Given the description of an element on the screen output the (x, y) to click on. 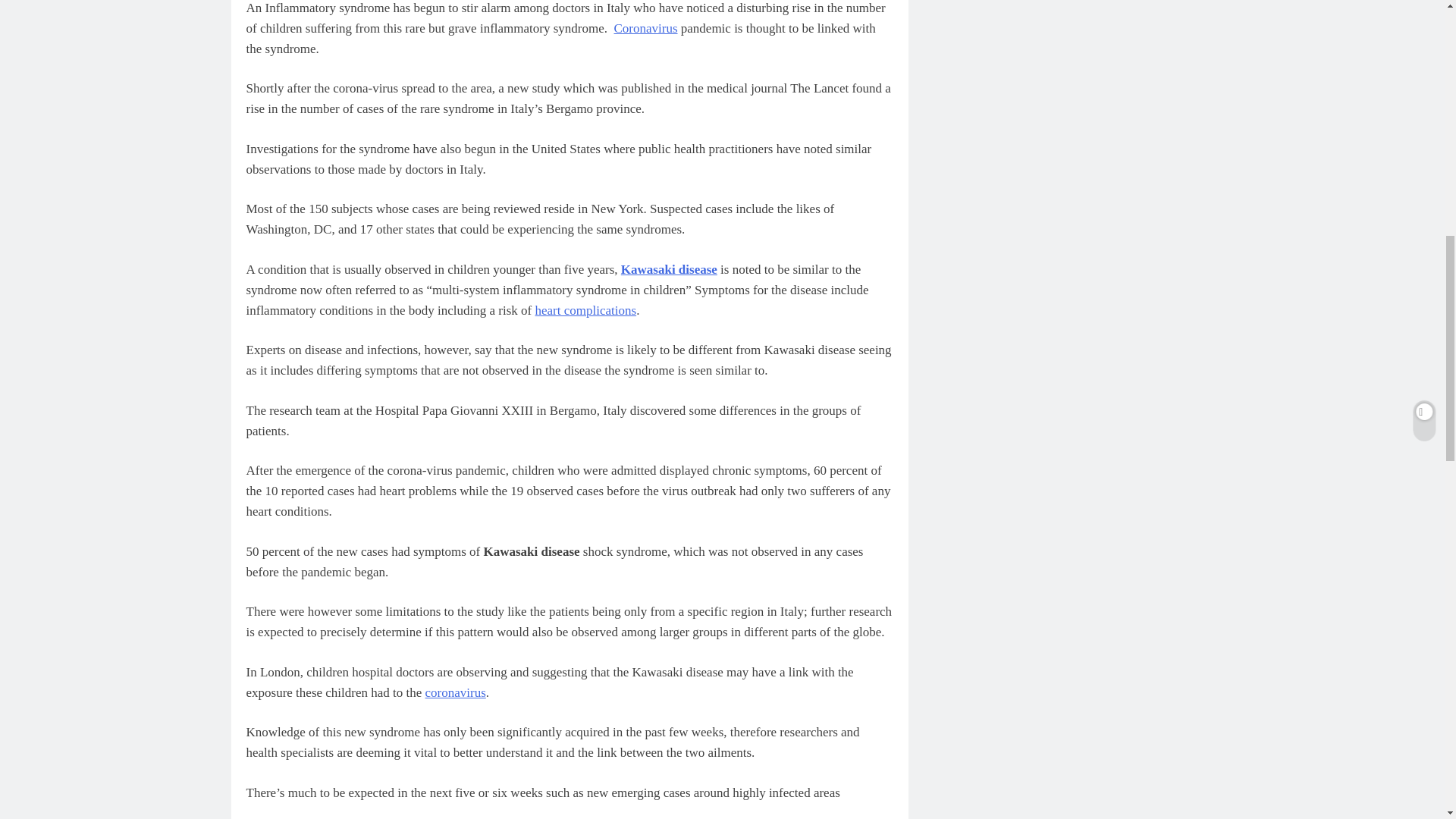
heart complications (586, 310)
Coronavirus (646, 28)
Kawasaki disease (669, 269)
coronavirus (455, 692)
